Given the description of an element on the screen output the (x, y) to click on. 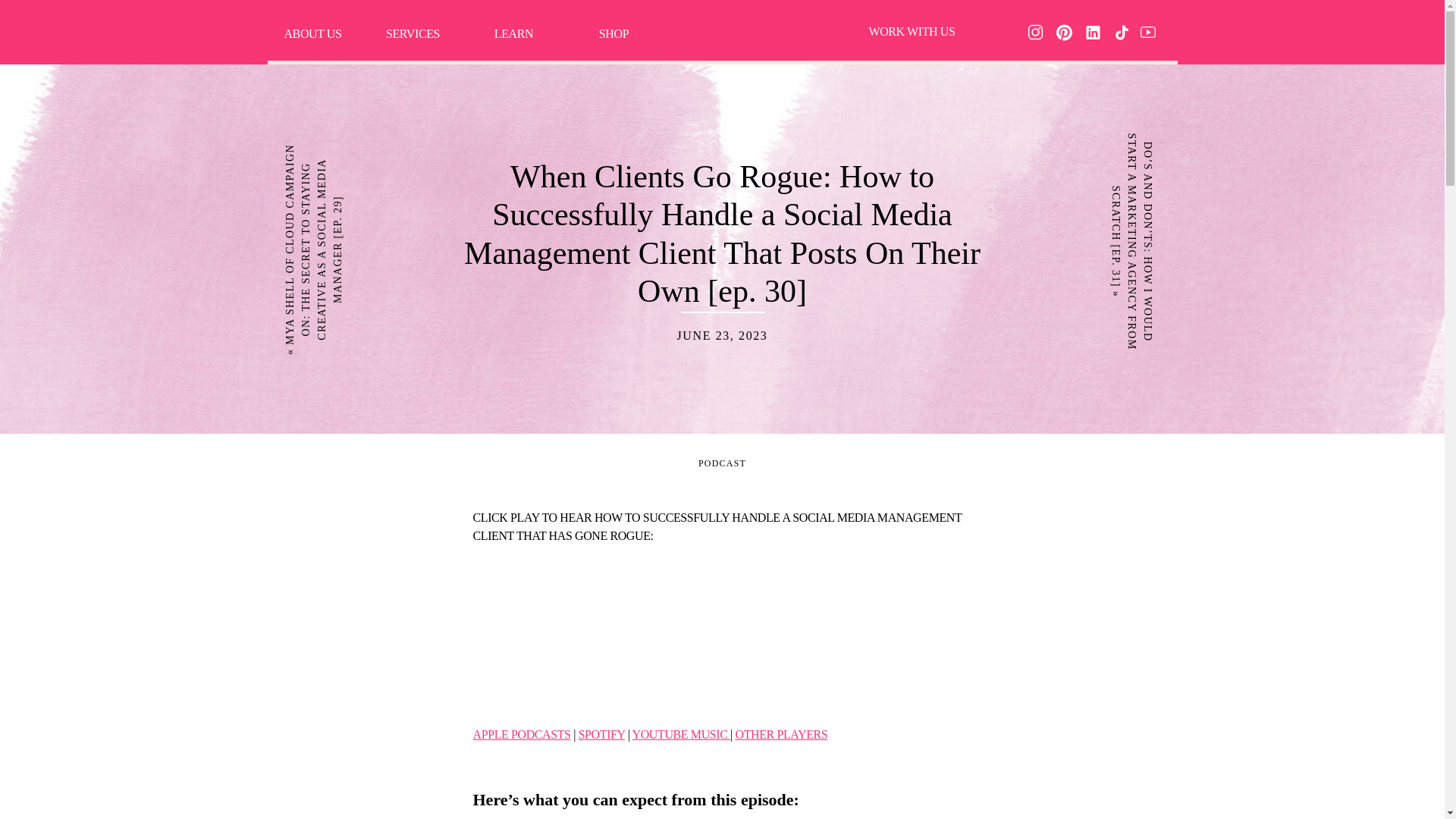
OTHER PLAYERS (781, 734)
SHOP (614, 32)
SPOTIFY (602, 734)
PODCAST (721, 462)
LEARN (513, 34)
SERVICES (412, 32)
ABOUT US (312, 32)
WORK WITH US (911, 30)
APPLE PODCASTS (521, 734)
YOUTUBE MUSIC (680, 734)
